Given the description of an element on the screen output the (x, y) to click on. 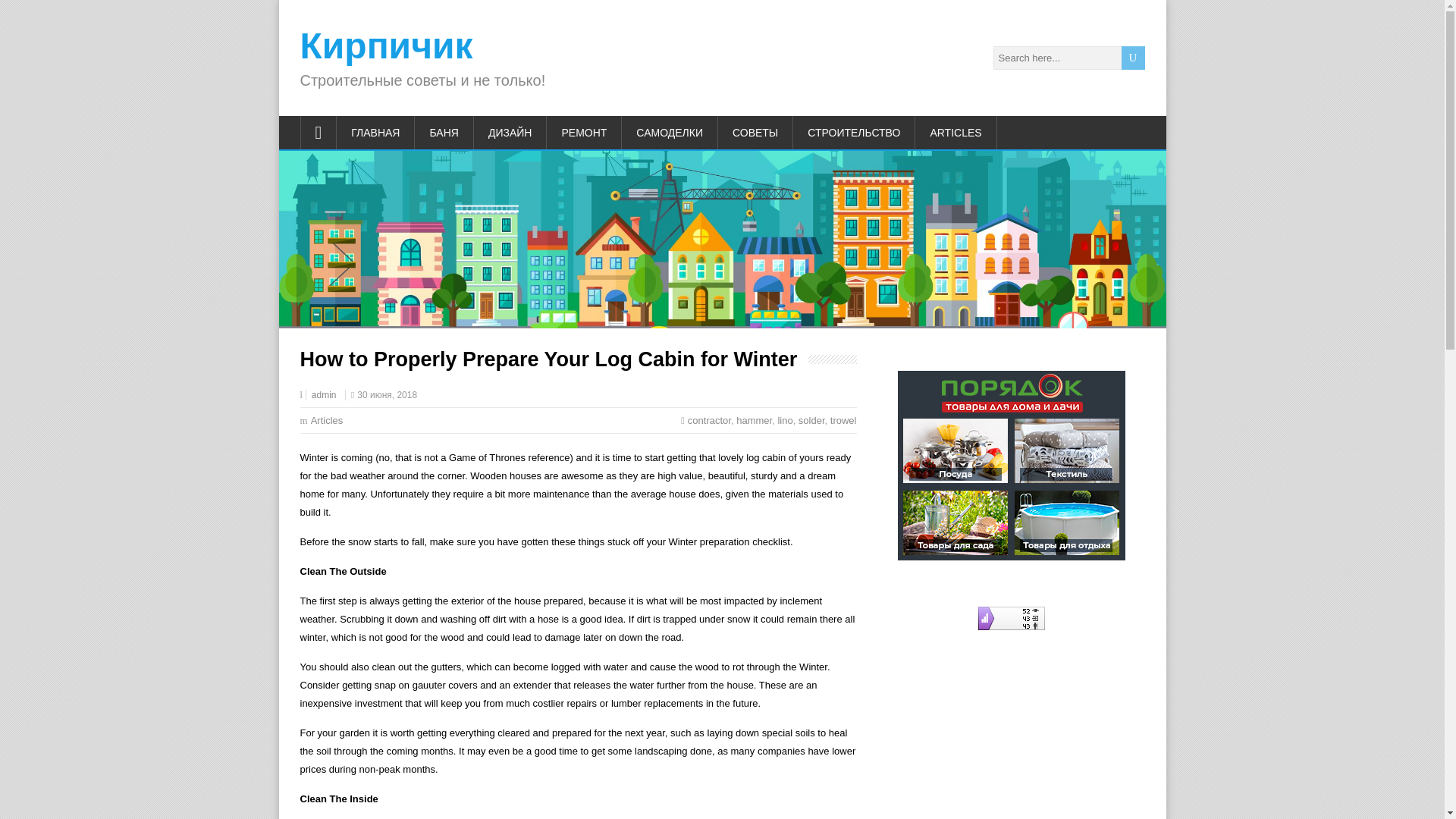
U (1132, 57)
trowel (843, 419)
ARTICLES (955, 132)
Articles (327, 419)
admin (323, 394)
U (1132, 57)
lino (784, 419)
U (1132, 57)
solder (811, 419)
contractor (708, 419)
